Given the description of an element on the screen output the (x, y) to click on. 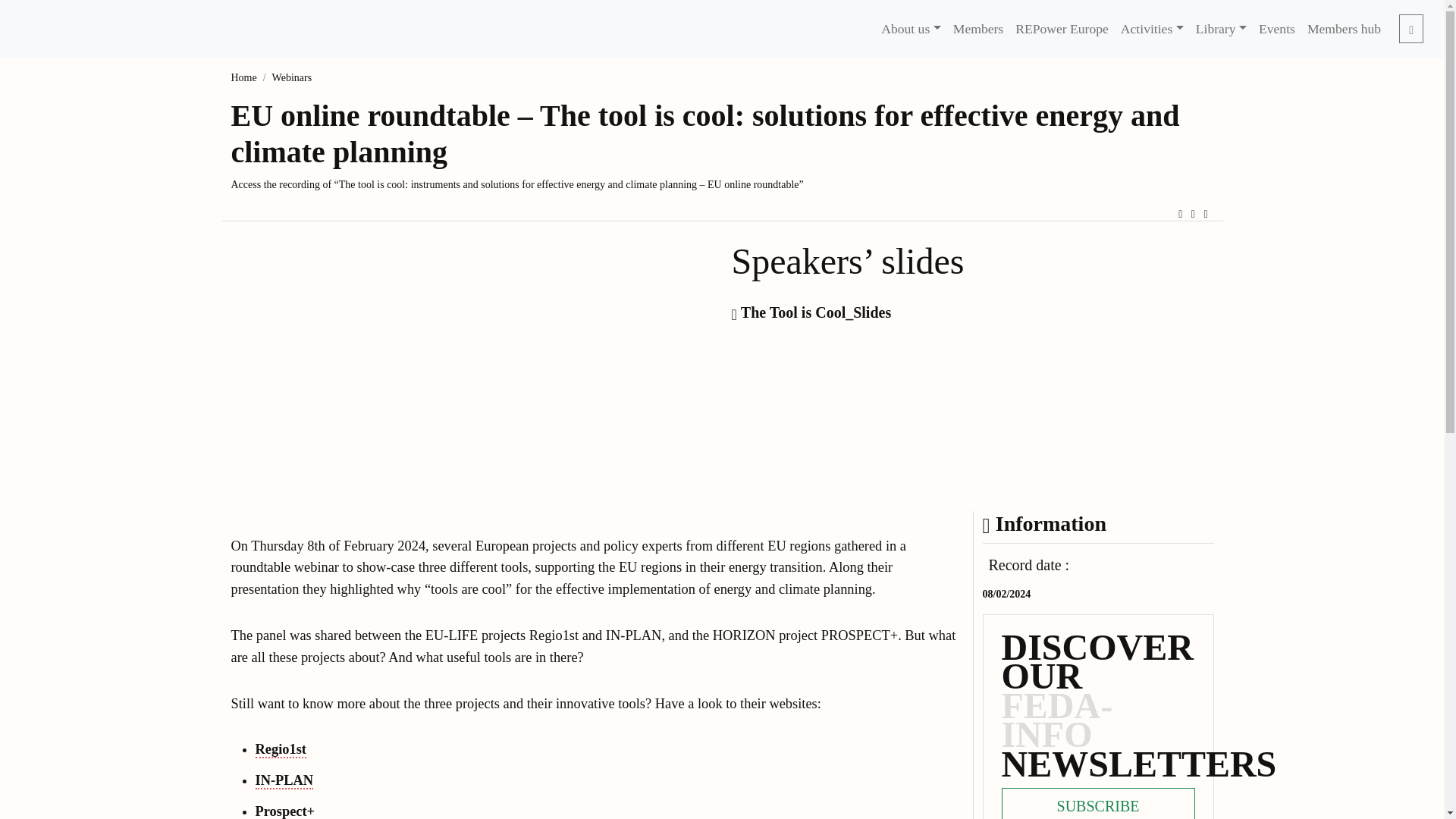
Members (978, 29)
REPower Europe (1062, 29)
About us (911, 29)
Regio1st (279, 750)
SUBSCRIBE (1097, 803)
Members (978, 29)
About us (911, 29)
Webinars (292, 77)
Activities (1152, 29)
IN-PLAN (283, 781)
